Given the description of an element on the screen output the (x, y) to click on. 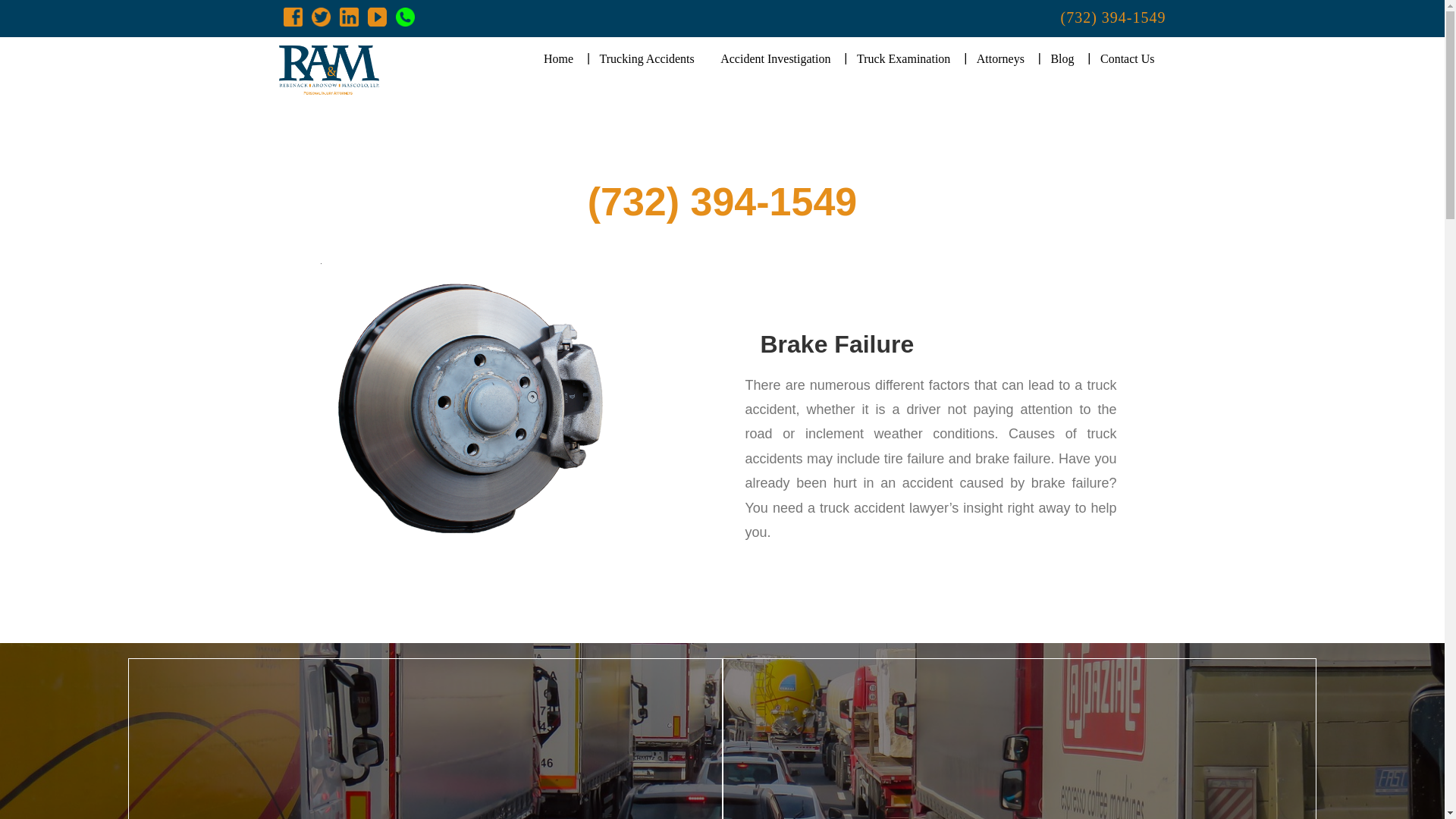
Home (558, 58)
Contact Us (1127, 58)
Truck Examination (902, 58)
Follow Us on Facebook (292, 16)
Attorneys (1000, 58)
Trucking Accidents (647, 58)
Follow Us on YouTube (375, 16)
Follow Us on Phone (405, 16)
Follow Us on LinkedIn (348, 16)
Follow Us on Twitter (320, 16)
